Given the description of an element on the screen output the (x, y) to click on. 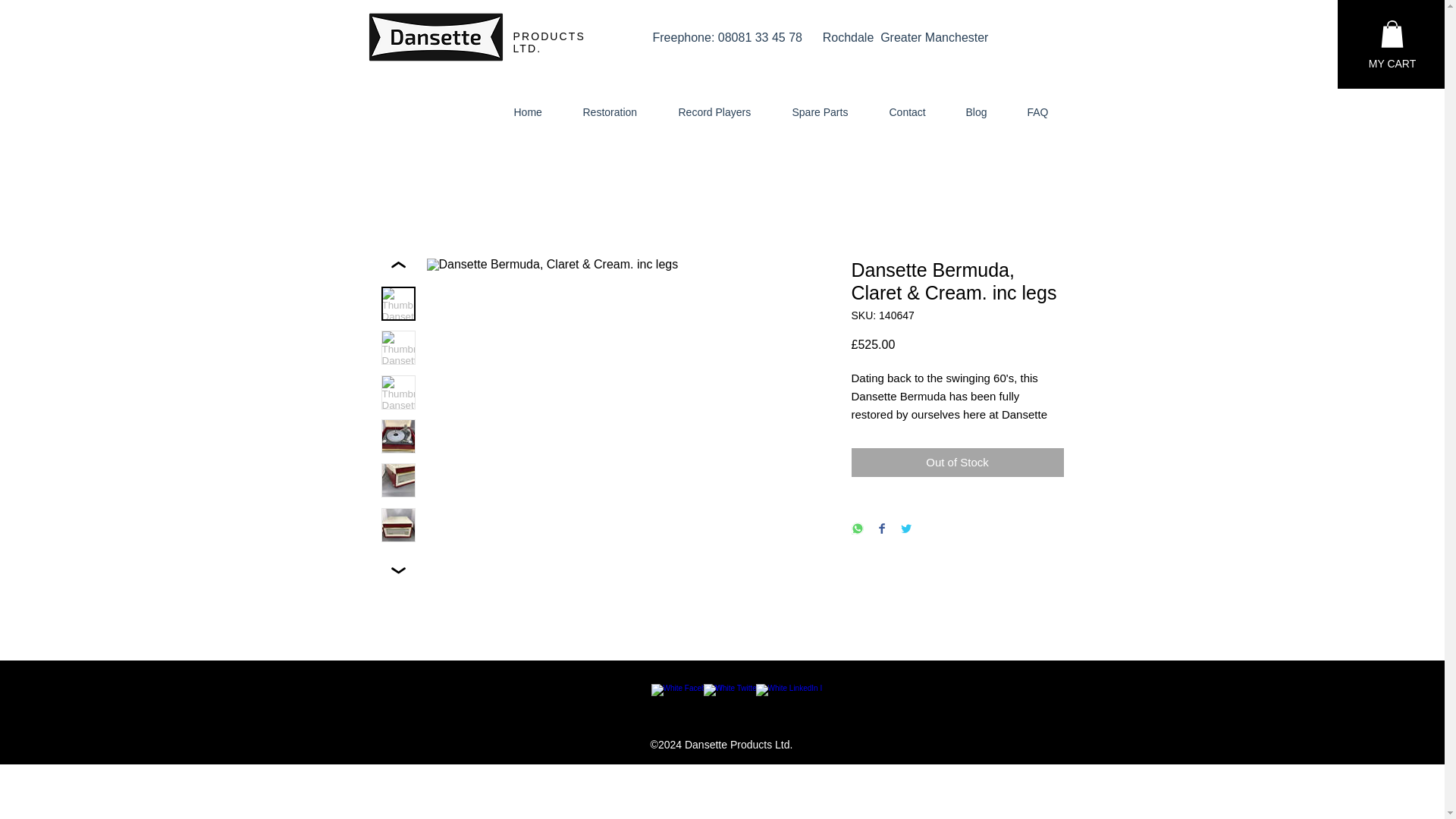
PRODUCTS LTD. (548, 42)
FAQ (1046, 112)
Home (536, 112)
Record Players (723, 112)
Out of Stock (956, 462)
Blog (983, 112)
Spare Parts (828, 112)
Restoration (619, 112)
Contact (916, 112)
